Given the description of an element on the screen output the (x, y) to click on. 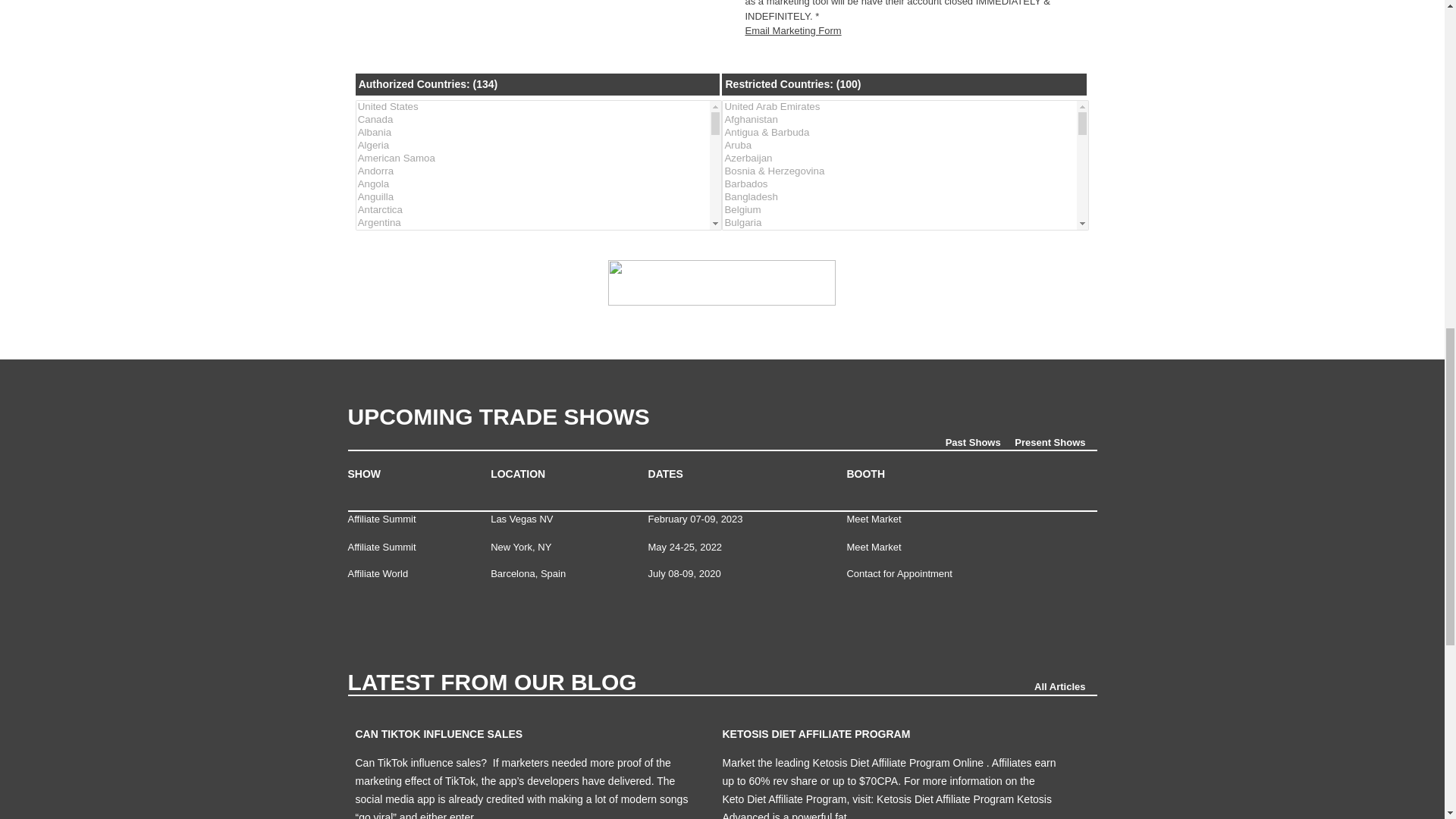
Past Shows (977, 441)
Affiliate Summit (380, 546)
Affiliate Summit (380, 518)
CAN TIKTOK INFLUENCE SALES (438, 734)
Present Shows (1055, 441)
Affiliate World (377, 573)
KETOSIS DIET AFFILIATE PROGRAM (816, 734)
All Articles (1064, 686)
Email Marketing Form (792, 30)
